Given the description of an element on the screen output the (x, y) to click on. 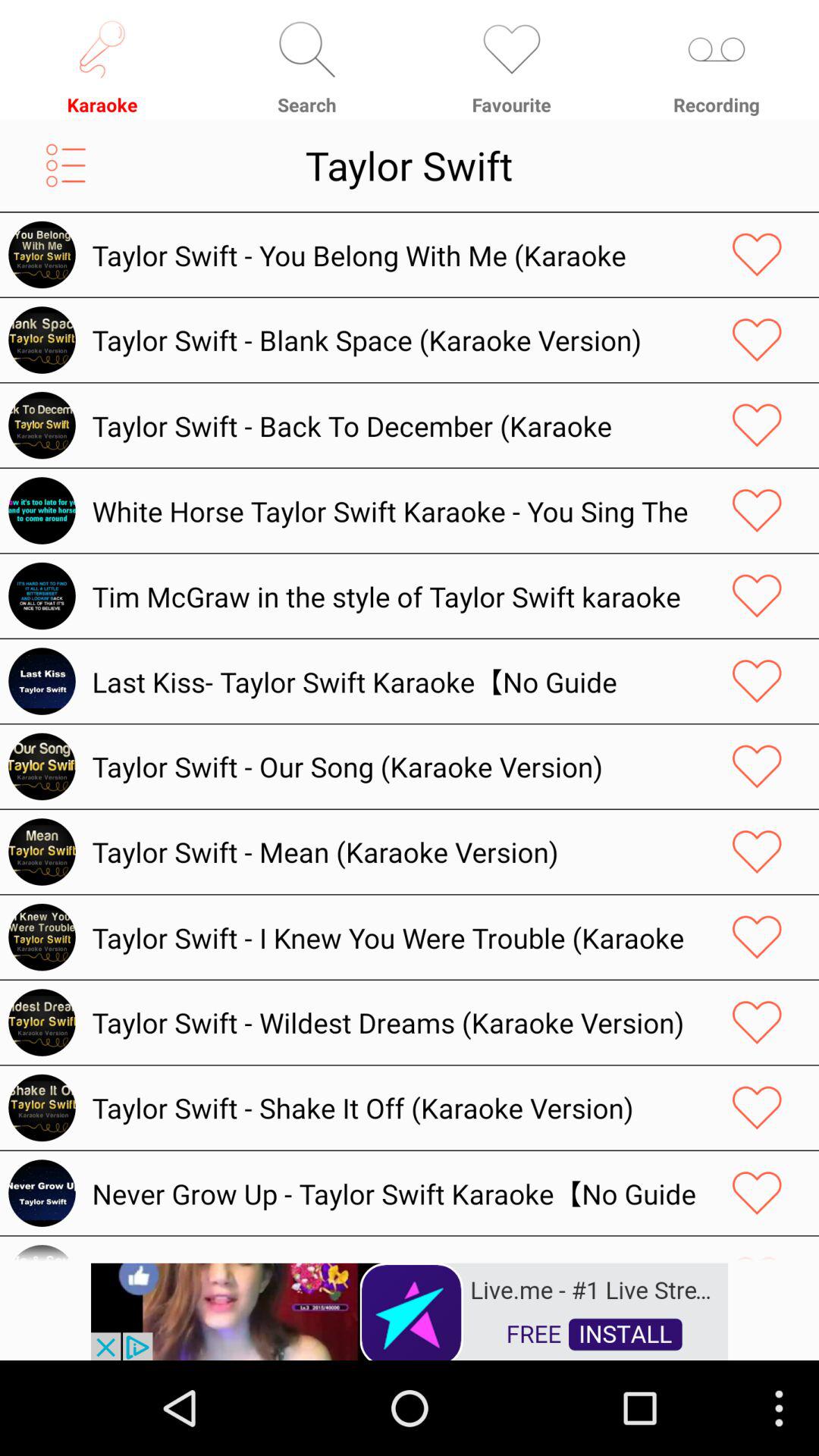
favorite song (756, 1251)
